Given the description of an element on the screen output the (x, y) to click on. 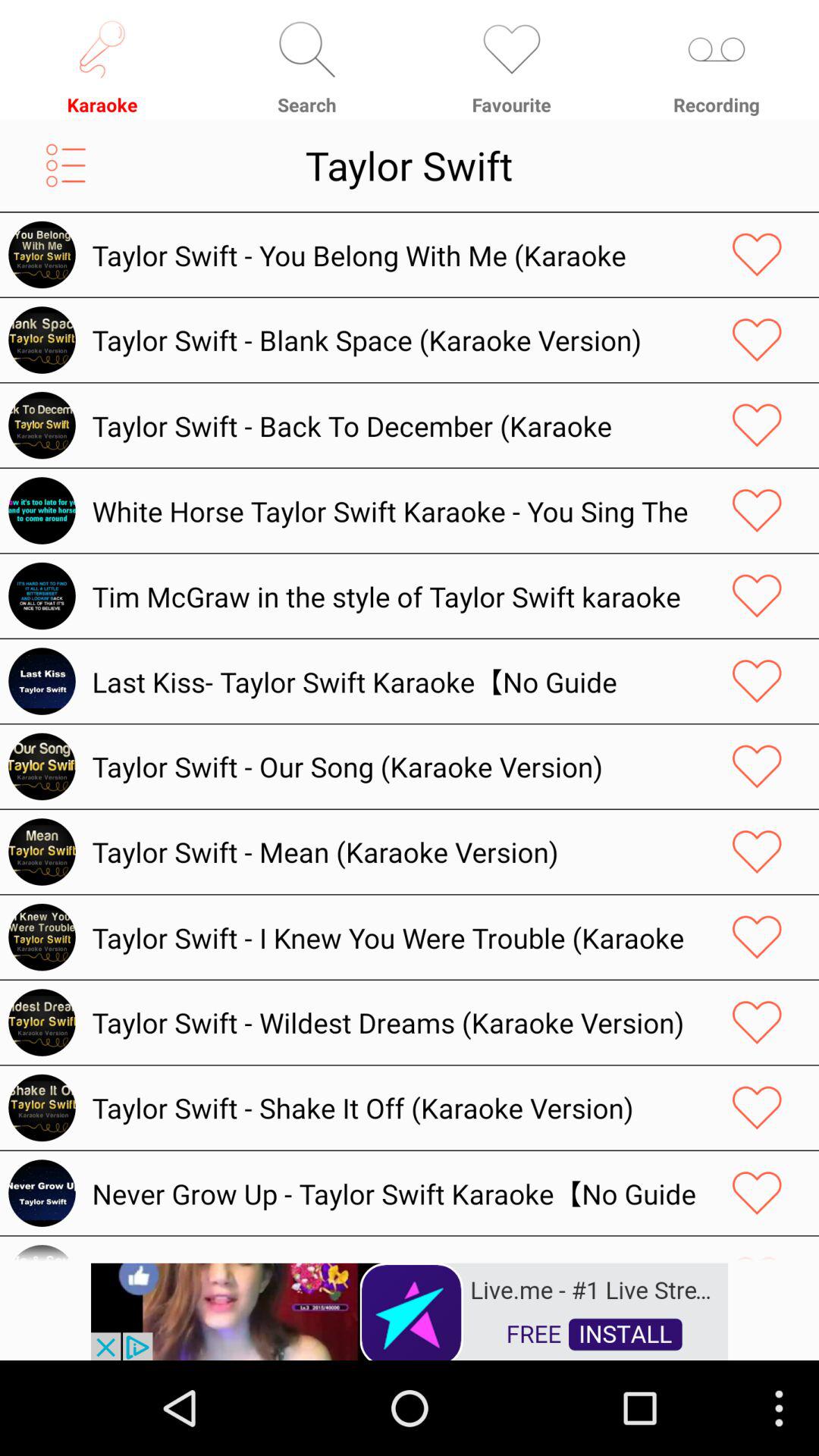
favorite song (756, 1251)
